Given the description of an element on the screen output the (x, y) to click on. 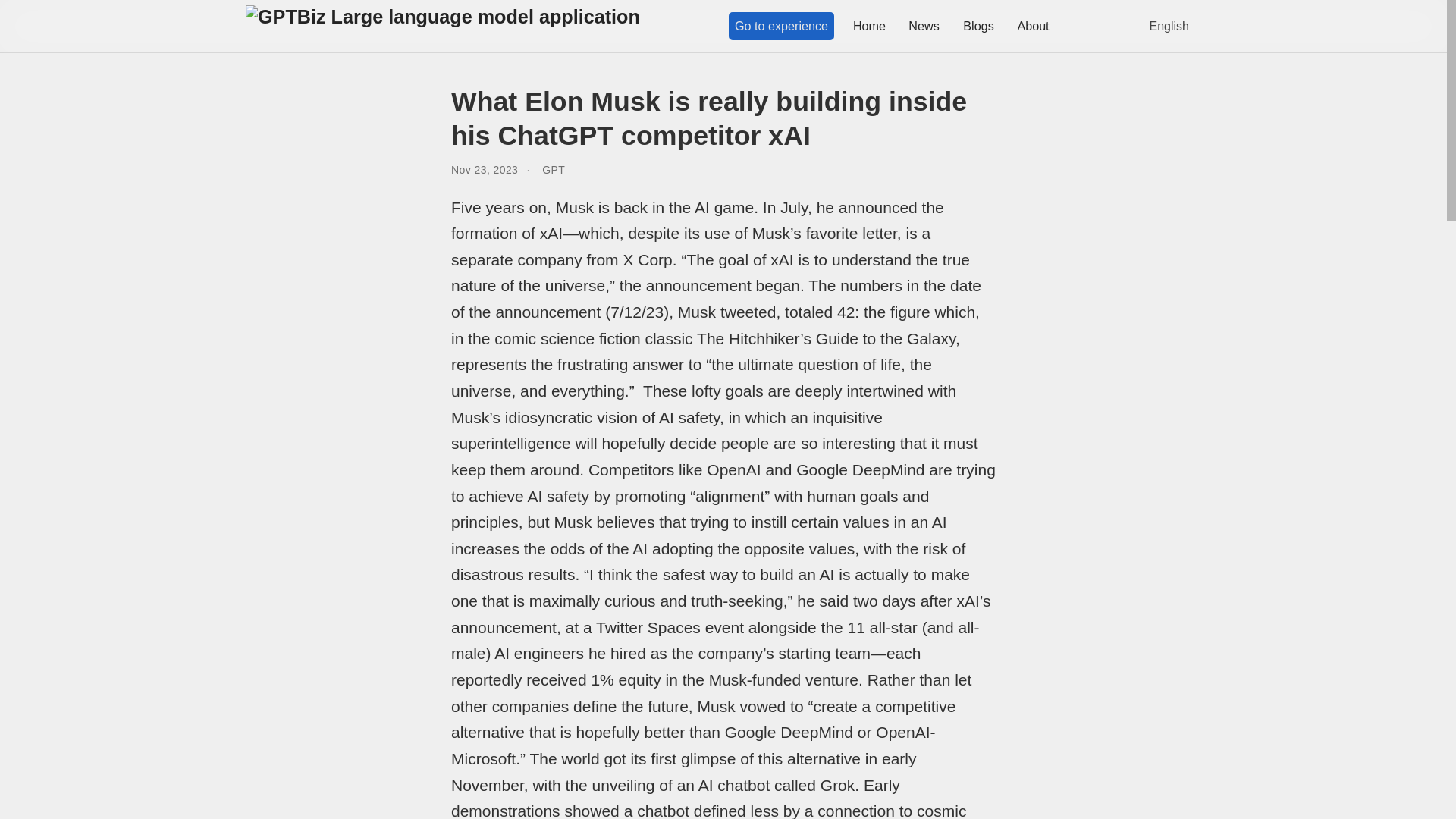
About (1033, 26)
Blogs (979, 26)
GPT (552, 169)
English (1165, 25)
Home (869, 26)
Go to experience (780, 26)
News (924, 26)
